Given the description of an element on the screen output the (x, y) to click on. 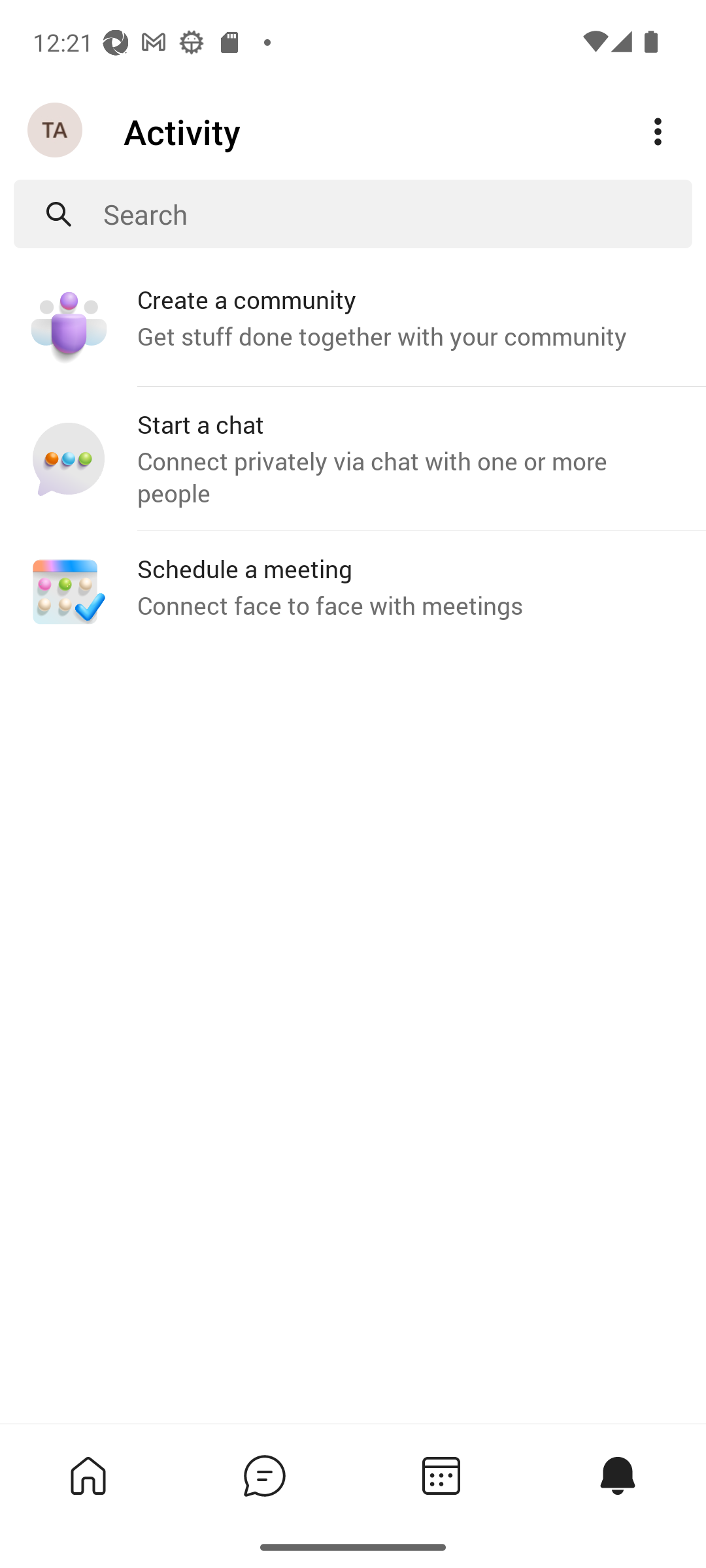
More options (657, 131)
Navigation (56, 130)
Search (397, 213)
Home tab,1 of 4, not selected (88, 1475)
Chat tab,2 of 4, not selected (264, 1475)
Calendar tab,3 of 4, not selected (441, 1475)
Activity tab,4 of 4, selected (617, 1475)
